Given the description of an element on the screen output the (x, y) to click on. 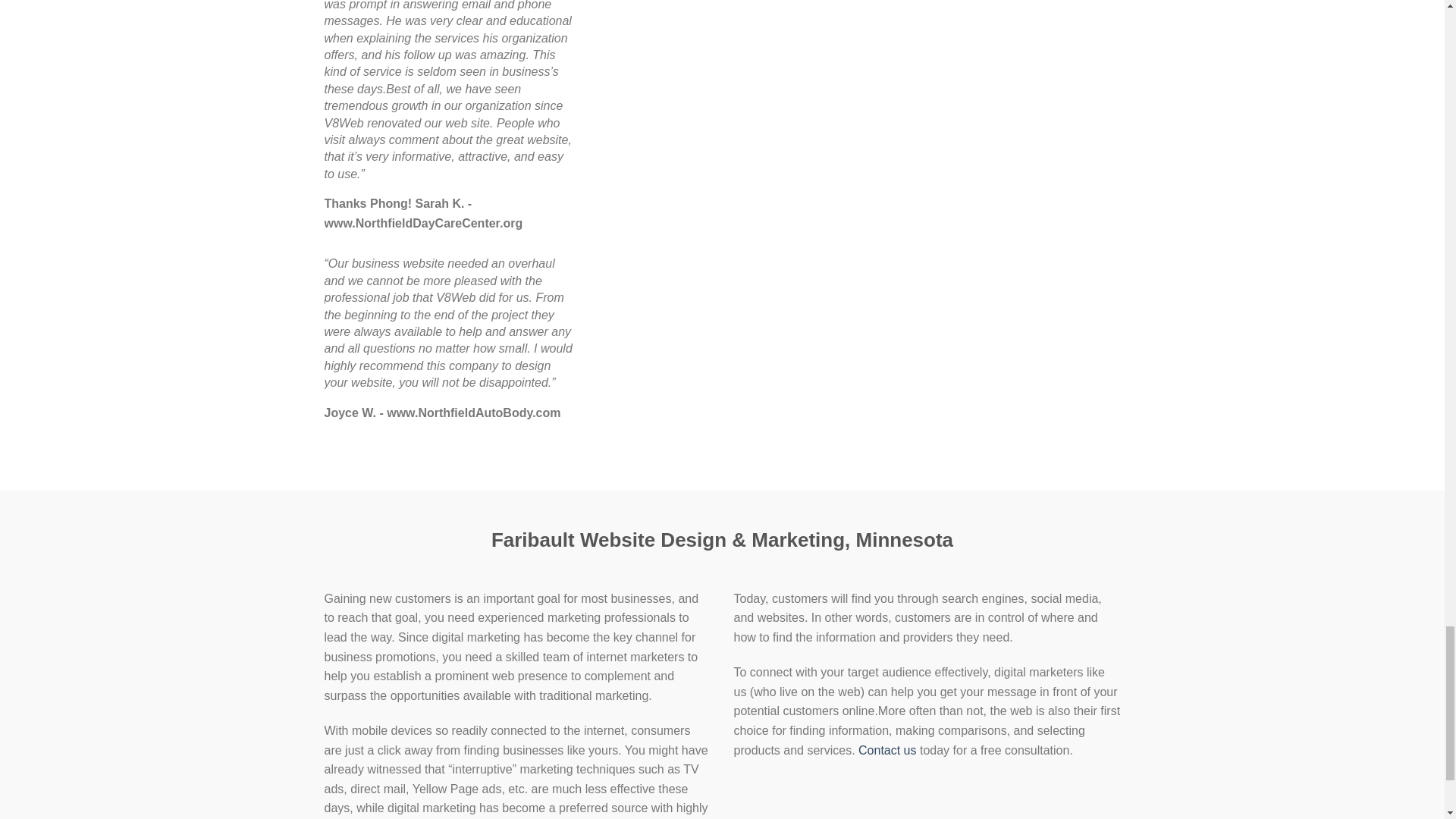
Contact us (887, 749)
